Given the description of an element on the screen output the (x, y) to click on. 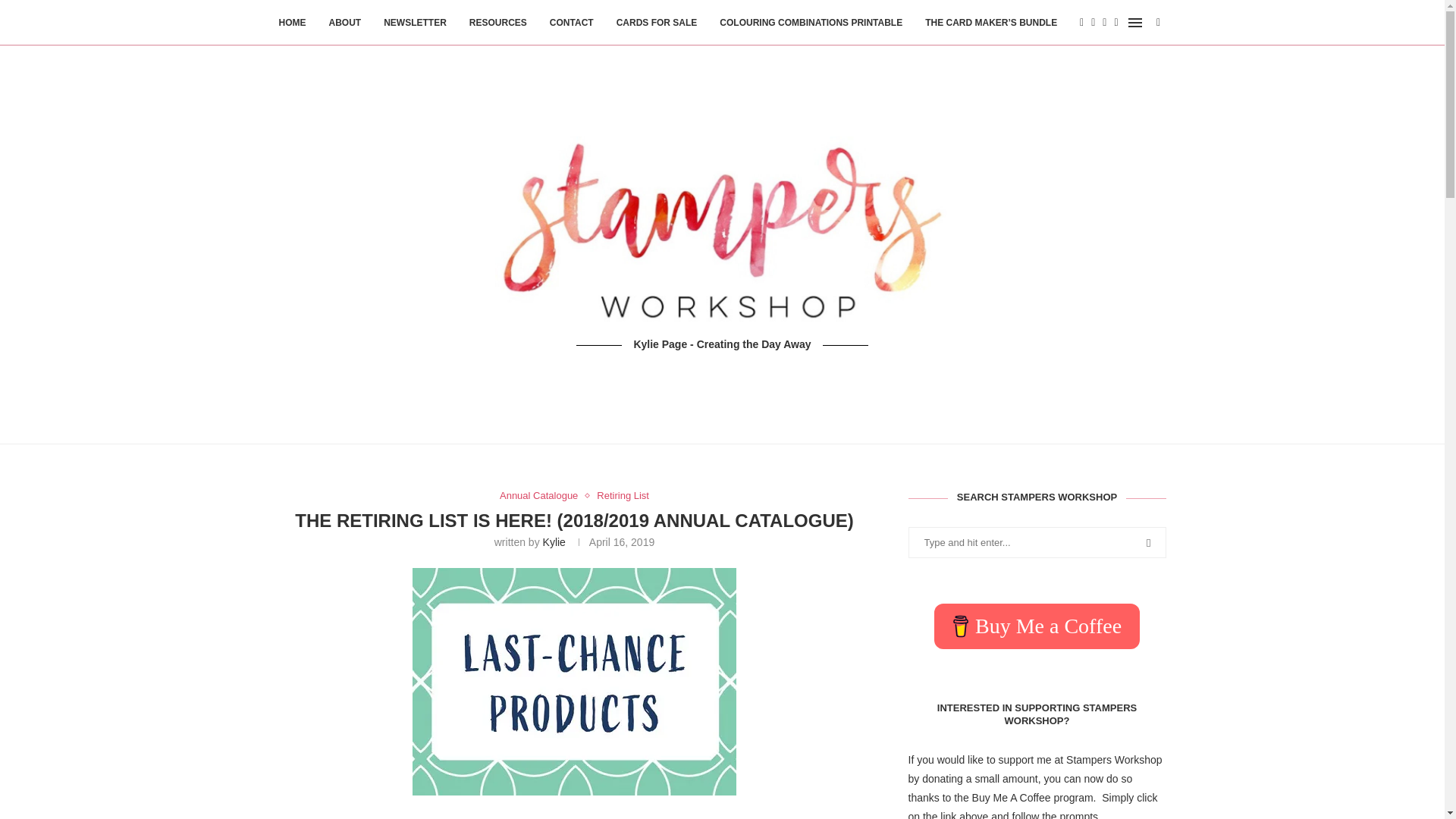
Retiring List (622, 495)
RESOURCES (497, 22)
NEWSLETTER (415, 22)
CARDS FOR SALE (656, 22)
Kylie (554, 541)
COLOURING COMBINATIONS PRINTABLE (810, 22)
Annual Catalogue (542, 495)
CONTACT (572, 22)
